Given the description of an element on the screen output the (x, y) to click on. 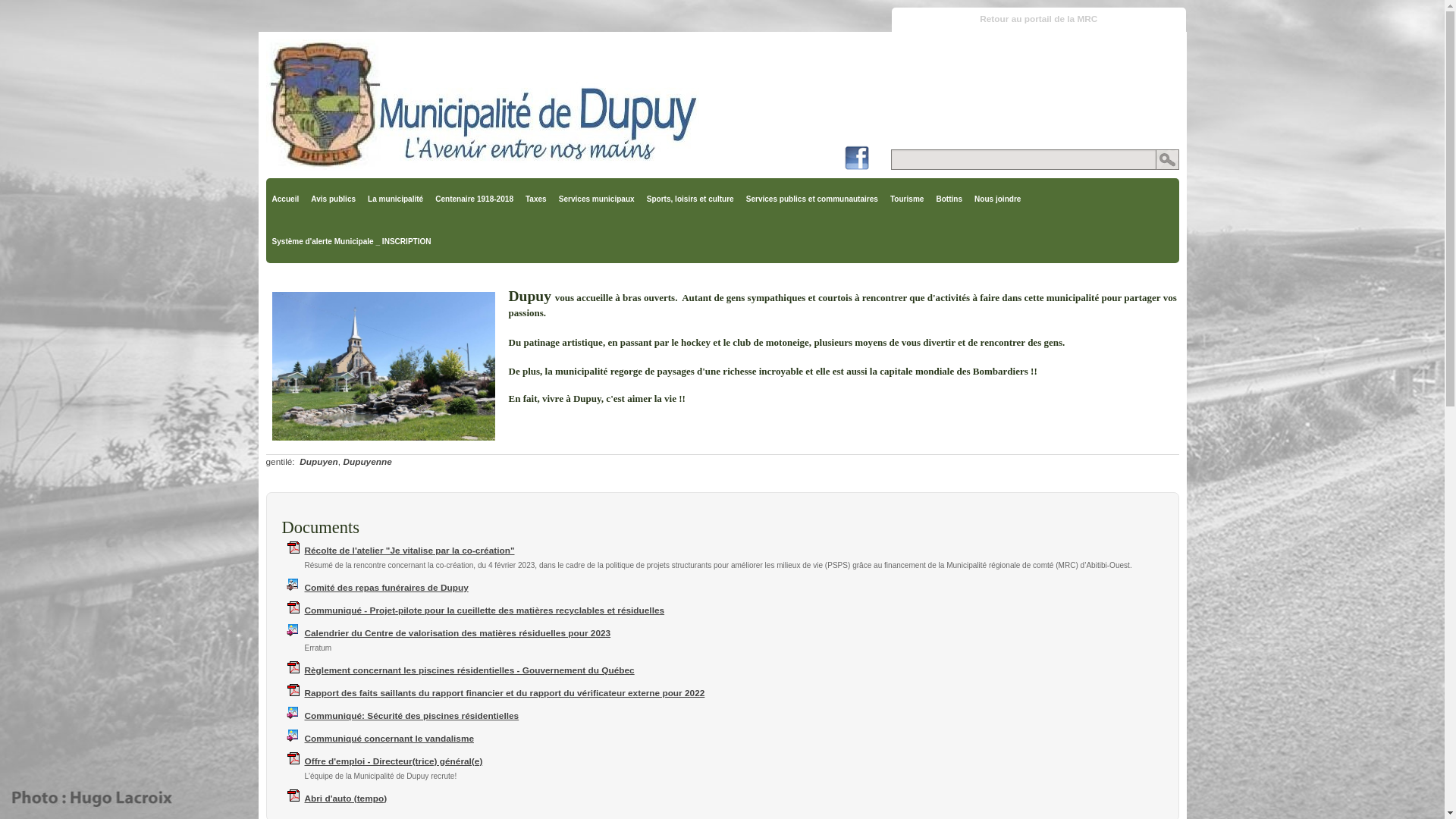
Taxes Element type: text (535, 199)
Tourisme Element type: text (906, 199)
Nous joindre Element type: text (997, 199)
Accueil Element type: text (284, 199)
Centenaire 1918-2018 Element type: text (474, 199)
Sports, loisirs et culture Element type: text (690, 199)
Retour au portail de la MRC Element type: text (1038, 19)
Avis publics Element type: text (332, 199)
Bottins Element type: text (948, 199)
Services publics et communautaires Element type: text (812, 199)
Abri d'auto (tempo) Element type: text (345, 798)
Services municipaux Element type: text (596, 199)
